Given the description of an element on the screen output the (x, y) to click on. 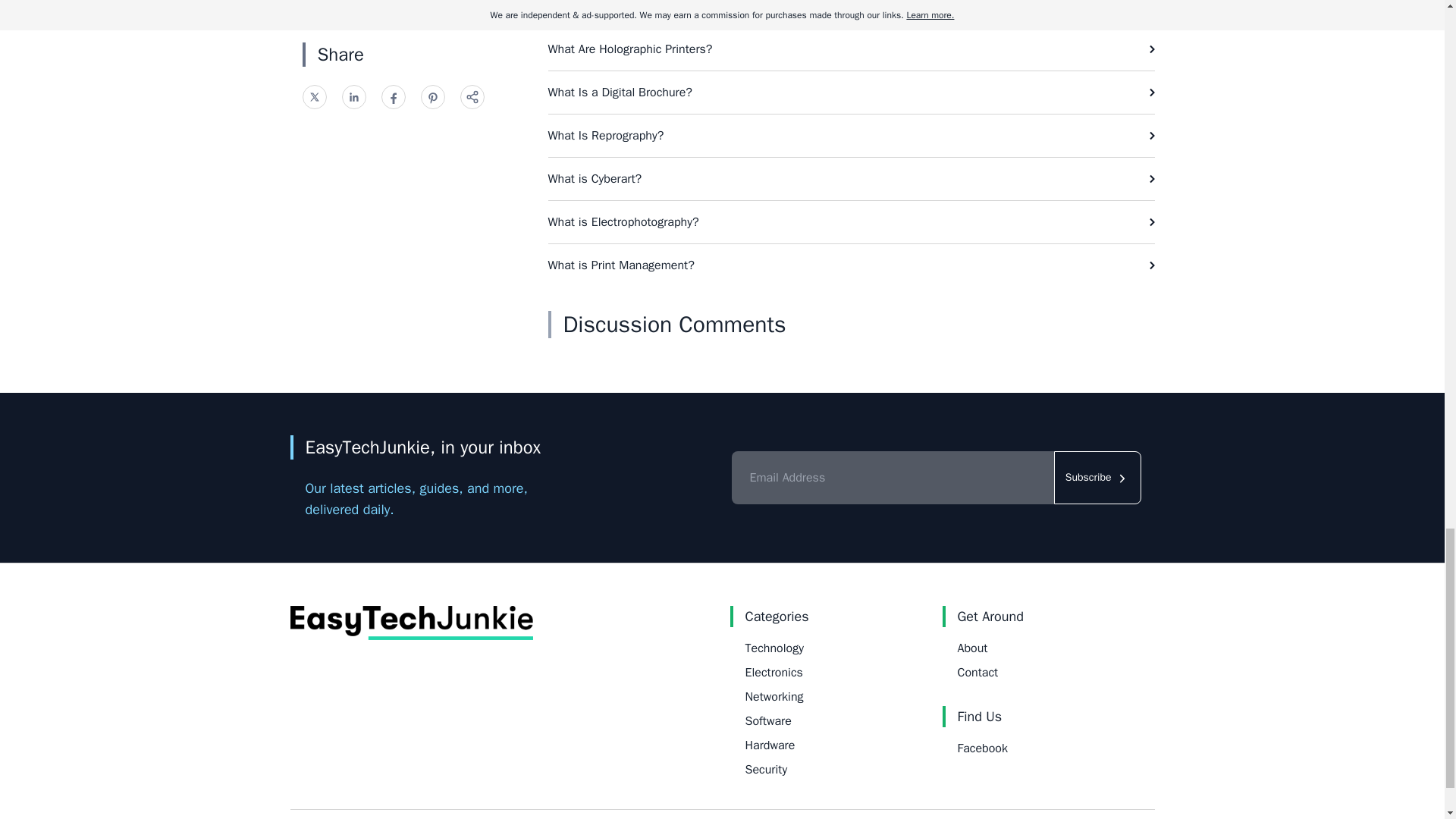
What Is a Digital Brochure? (850, 92)
What Is Duplex Printing? (850, 13)
What Are Holographic Printers? (850, 48)
What Is Reprography? (850, 135)
